Given the description of an element on the screen output the (x, y) to click on. 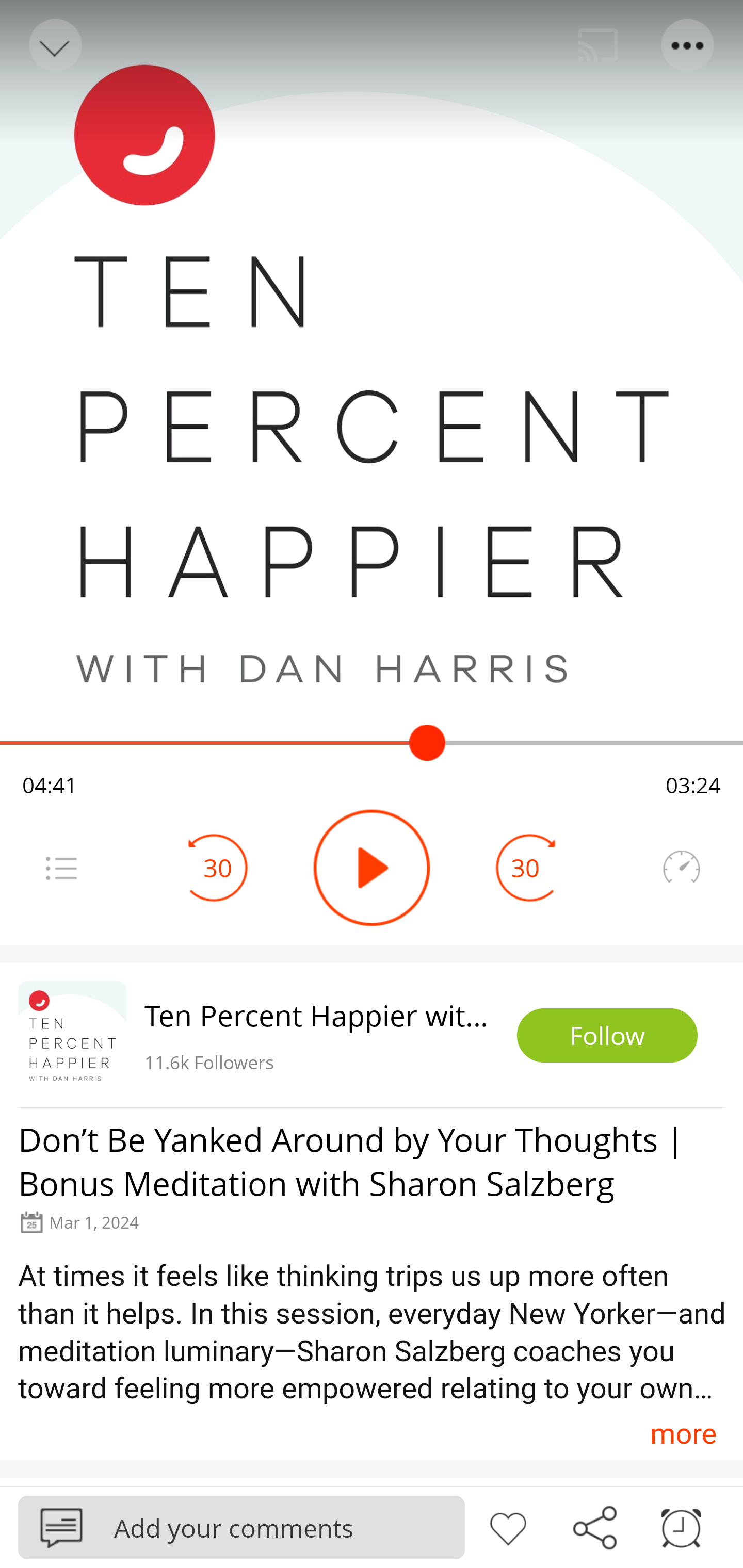
Back (53, 45)
Cast. Disconnected (597, 45)
Menu (688, 45)
Play (371, 867)
30 Seek Backward (217, 867)
30 Seek Forward (525, 867)
Menu (60, 867)
Speedometer (681, 867)
Follow (607, 1035)
more (682, 1432)
Like (508, 1526)
Share (594, 1526)
Sleep timer (681, 1526)
Podbean Add your comments (241, 1526)
